Given the description of an element on the screen output the (x, y) to click on. 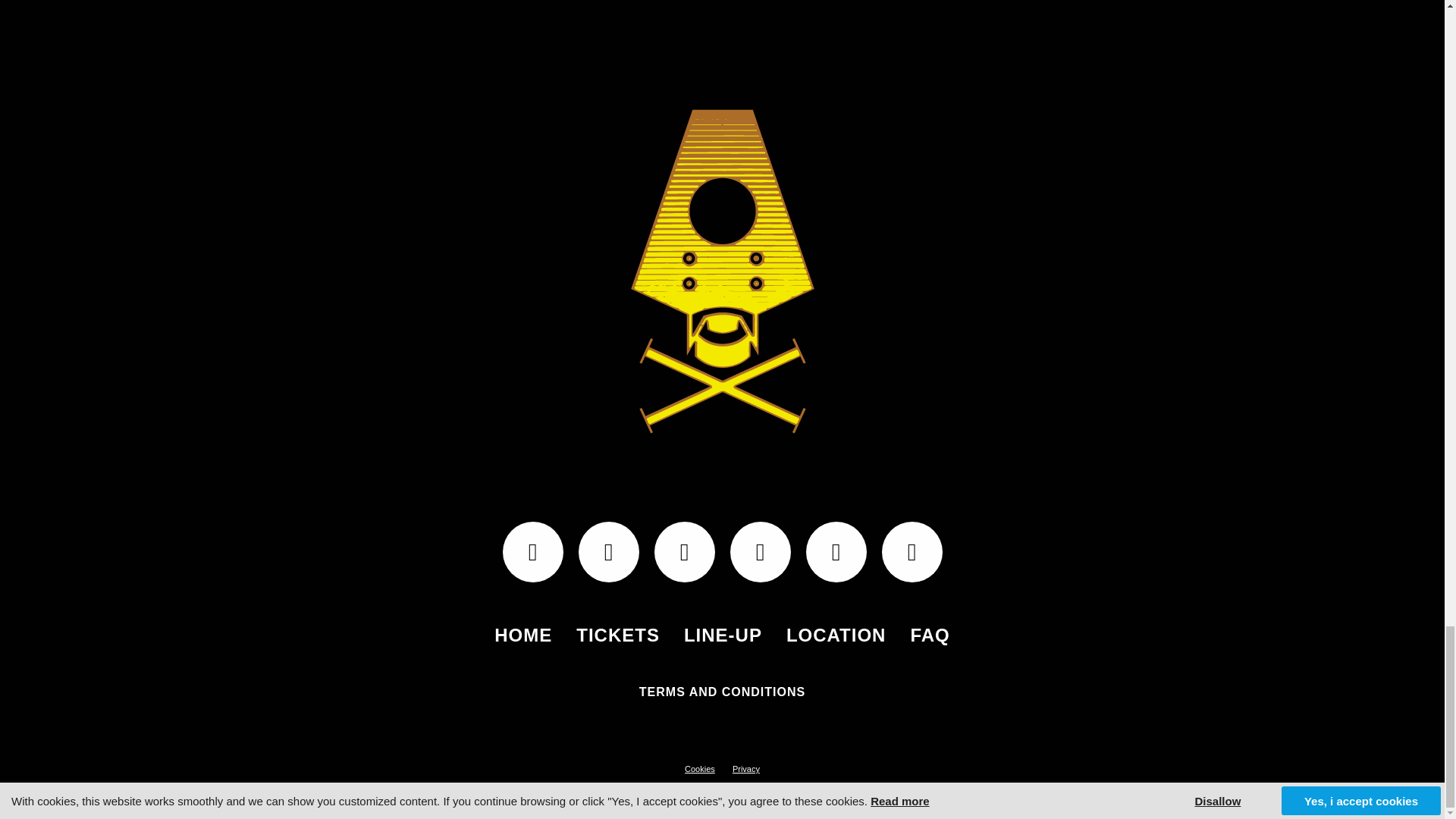
TERMS AND CONDITIONS (721, 692)
TICKETS (617, 635)
Website: Always Awake (721, 805)
LOCATION (836, 635)
FAQ (929, 635)
HOME (522, 635)
LINE-UP (722, 635)
